Given the description of an element on the screen output the (x, y) to click on. 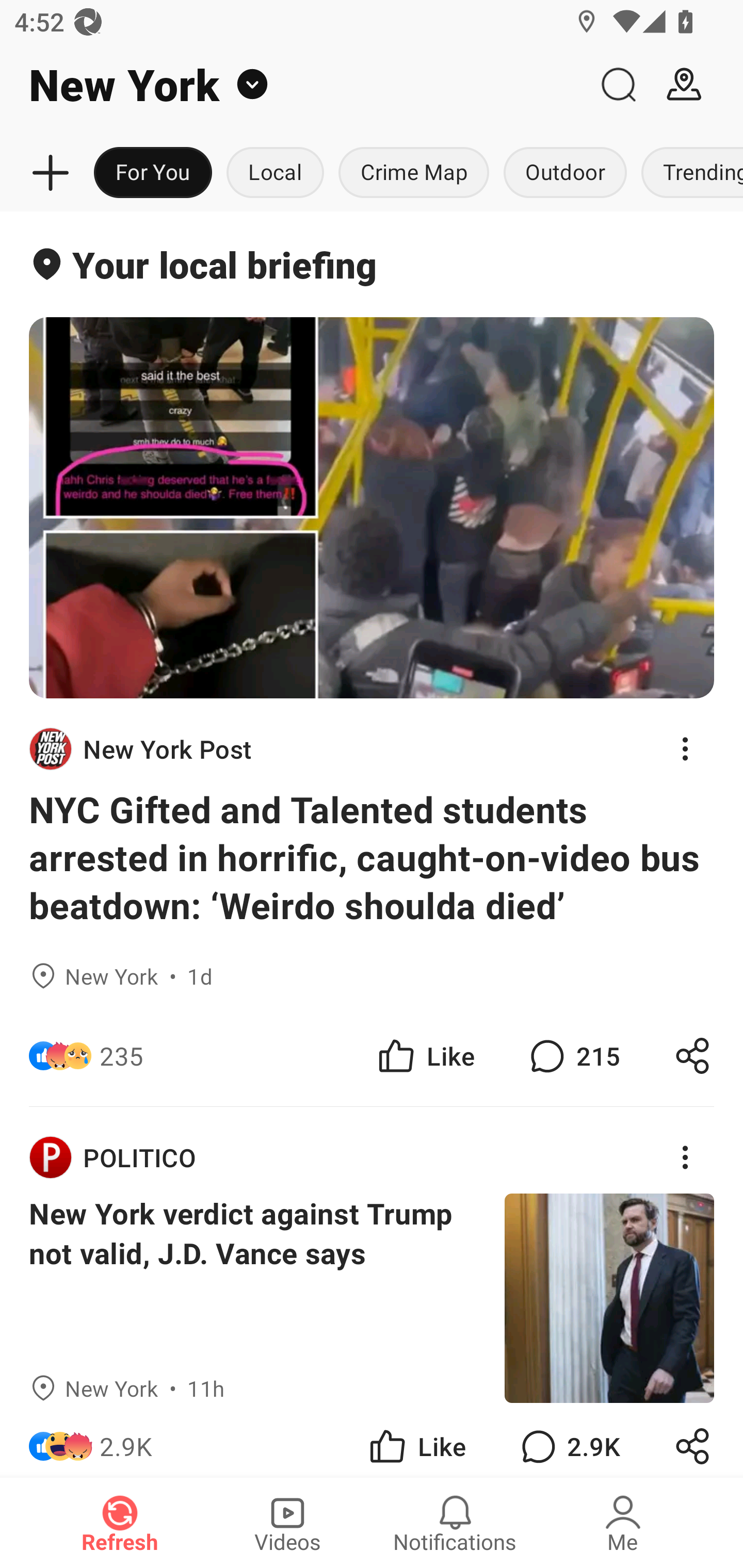
New York (292, 84)
For You (152, 172)
Local (275, 172)
Crime Map (413, 172)
Outdoor (564, 172)
Trending (688, 172)
235 (121, 1055)
Like (425, 1055)
215 (572, 1055)
2.9K (125, 1440)
Like (416, 1440)
2.9K (568, 1440)
Videos (287, 1522)
Notifications (455, 1522)
Me (622, 1522)
